Given the description of an element on the screen output the (x, y) to click on. 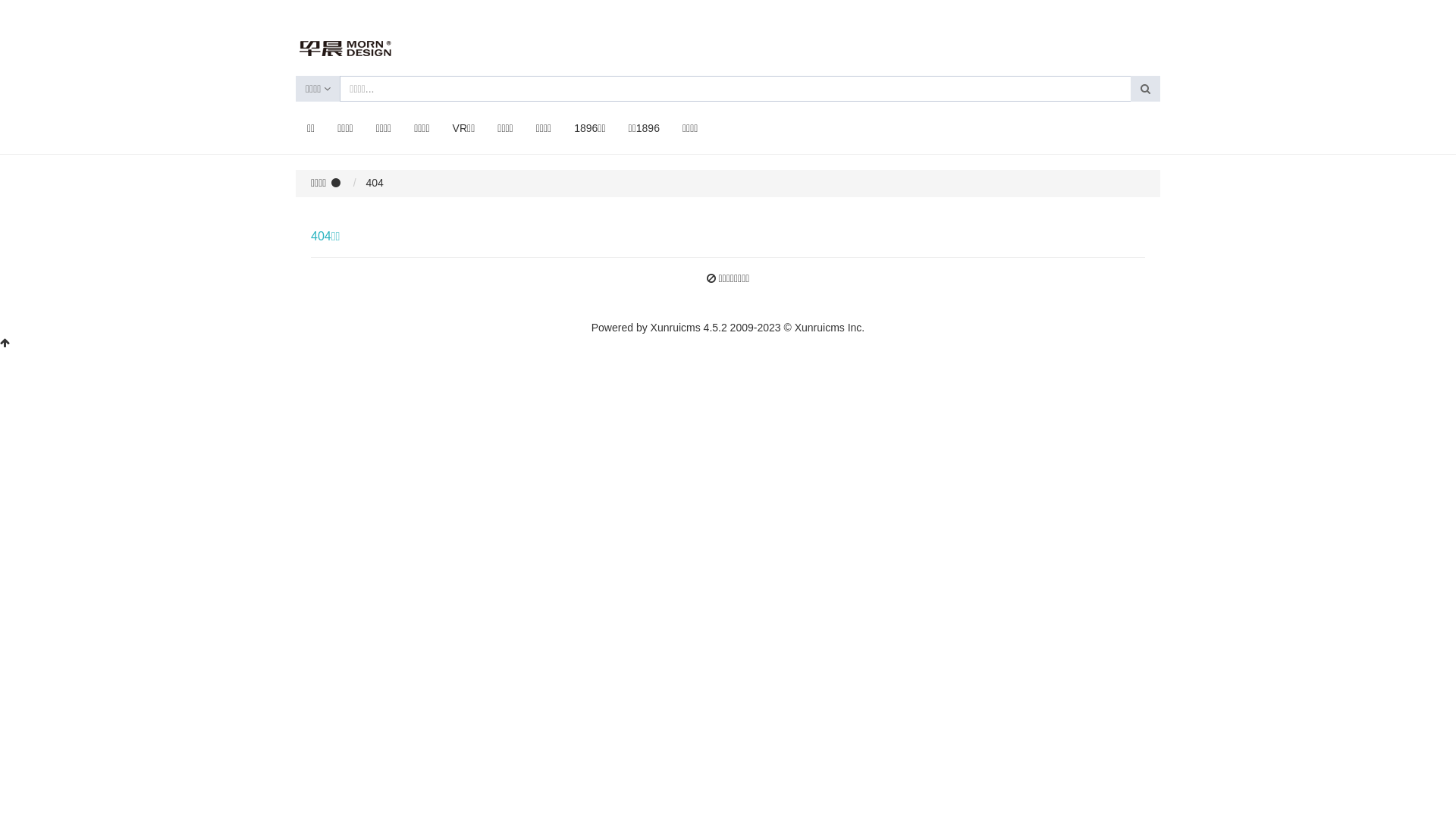
Xunruicms Element type: text (675, 327)
